Given the description of an element on the screen output the (x, y) to click on. 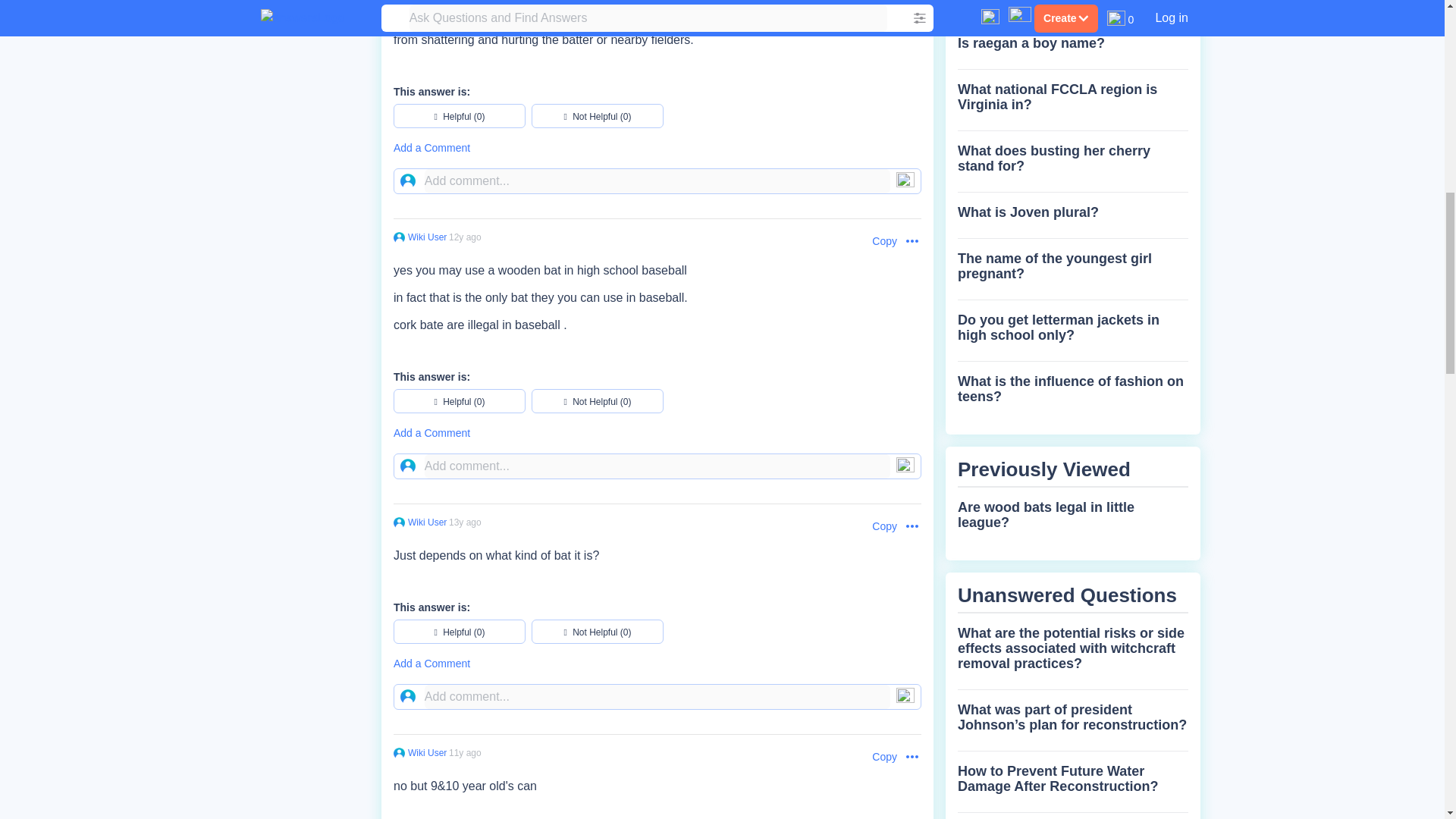
2012-07-07 19:21:13 (464, 236)
2011-08-12 21:27:07 (464, 521)
2013-06-16 19:21:49 (464, 752)
